Given the description of an element on the screen output the (x, y) to click on. 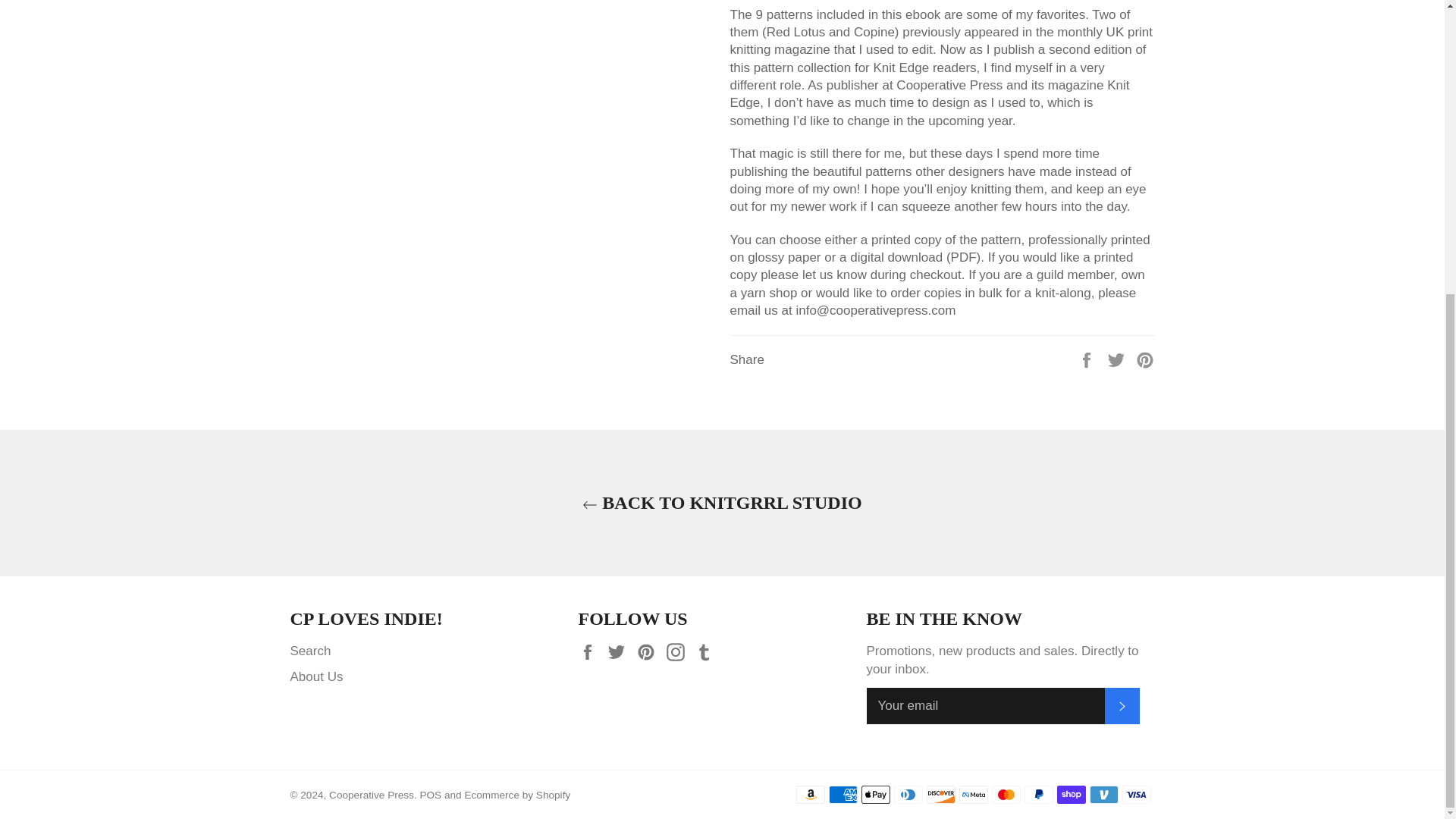
Cooperative Press on Tumblr (707, 651)
About Us (315, 676)
BACK TO KNITGRRL STUDIO (721, 502)
Tweet on Twitter (1117, 359)
Facebook (591, 651)
Cooperative Press on Pinterest (649, 651)
Pinterest (649, 651)
Search (309, 650)
Share on Facebook (1088, 359)
Cooperative Press on Twitter (620, 651)
Pin on Pinterest (1144, 359)
Pin on Pinterest (1144, 359)
Twitter (620, 651)
Tweet on Twitter (1117, 359)
Share on Facebook (1088, 359)
